Given the description of an element on the screen output the (x, y) to click on. 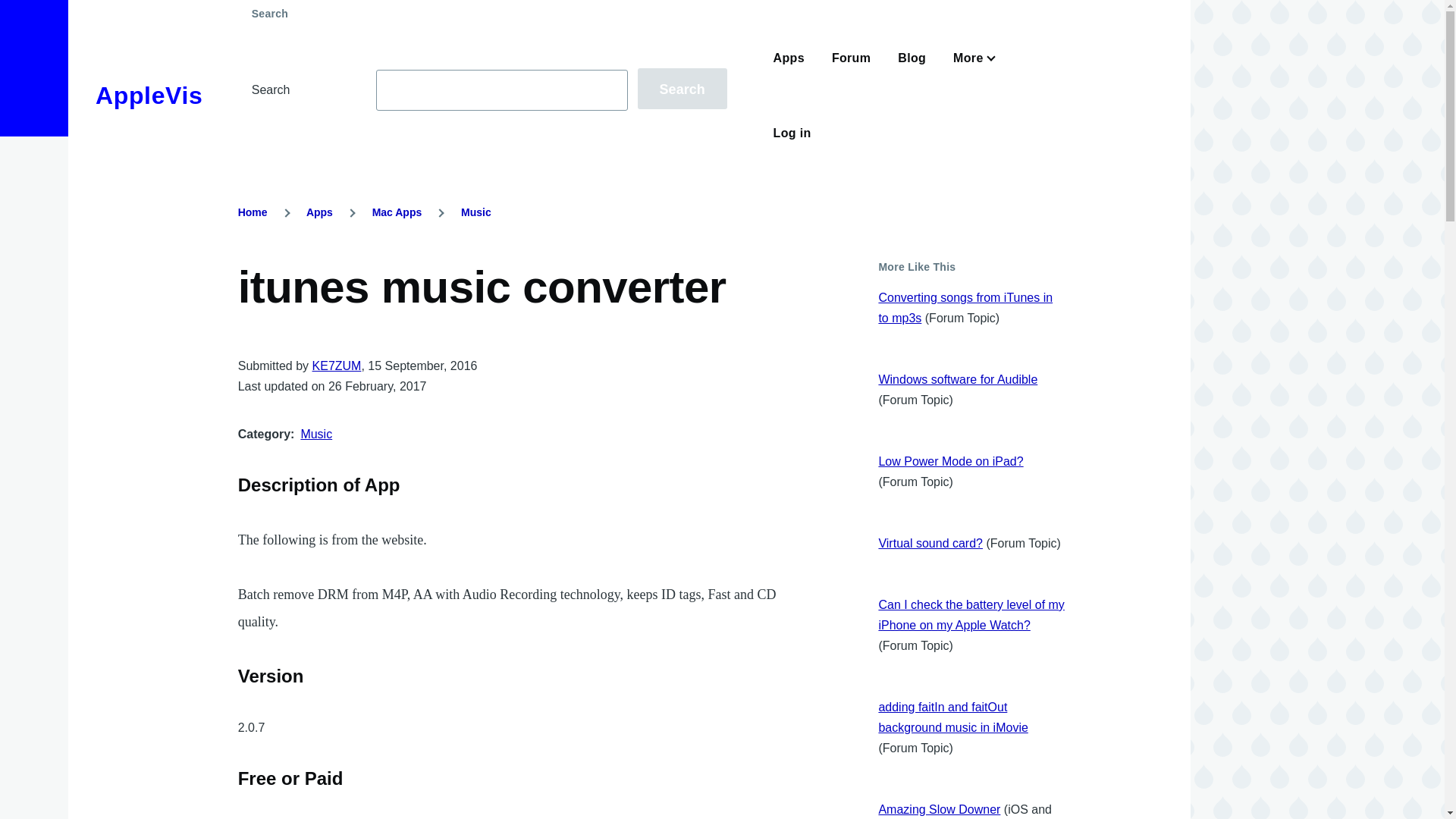
Low Power Mode on iPad? (950, 461)
AppleVis (149, 94)
adding faitIn and faitOut background music in iMovie (952, 717)
Music (476, 212)
Home (252, 212)
Amazing Slow Downer (938, 809)
Converting songs from iTunes in to mp3s (964, 307)
Virtual sound card? (929, 543)
Search (681, 87)
Skip to main content (595, 6)
Mac Apps (397, 212)
Windows software for Audible (956, 379)
Home (149, 94)
Search (681, 87)
